Given the description of an element on the screen output the (x, y) to click on. 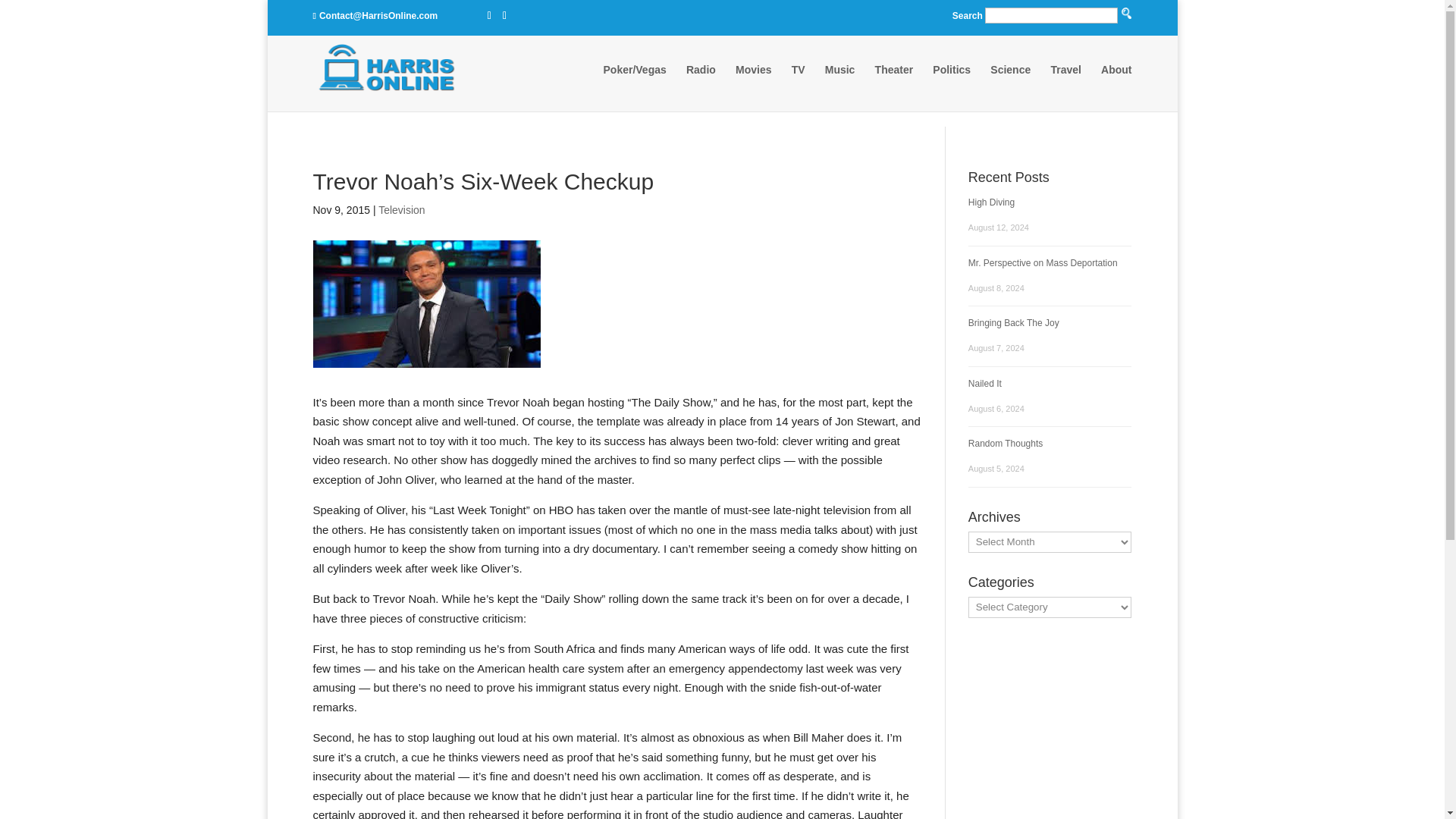
Politics (952, 84)
Search (790, 128)
Theater (894, 84)
Mr. Perspective on Mass Deportation (1043, 262)
Random Thoughts (1005, 443)
High Diving (991, 202)
Television (401, 209)
Nailed It (984, 382)
Movies (753, 84)
Bringing Back The Joy (1013, 322)
